Given the description of an element on the screen output the (x, y) to click on. 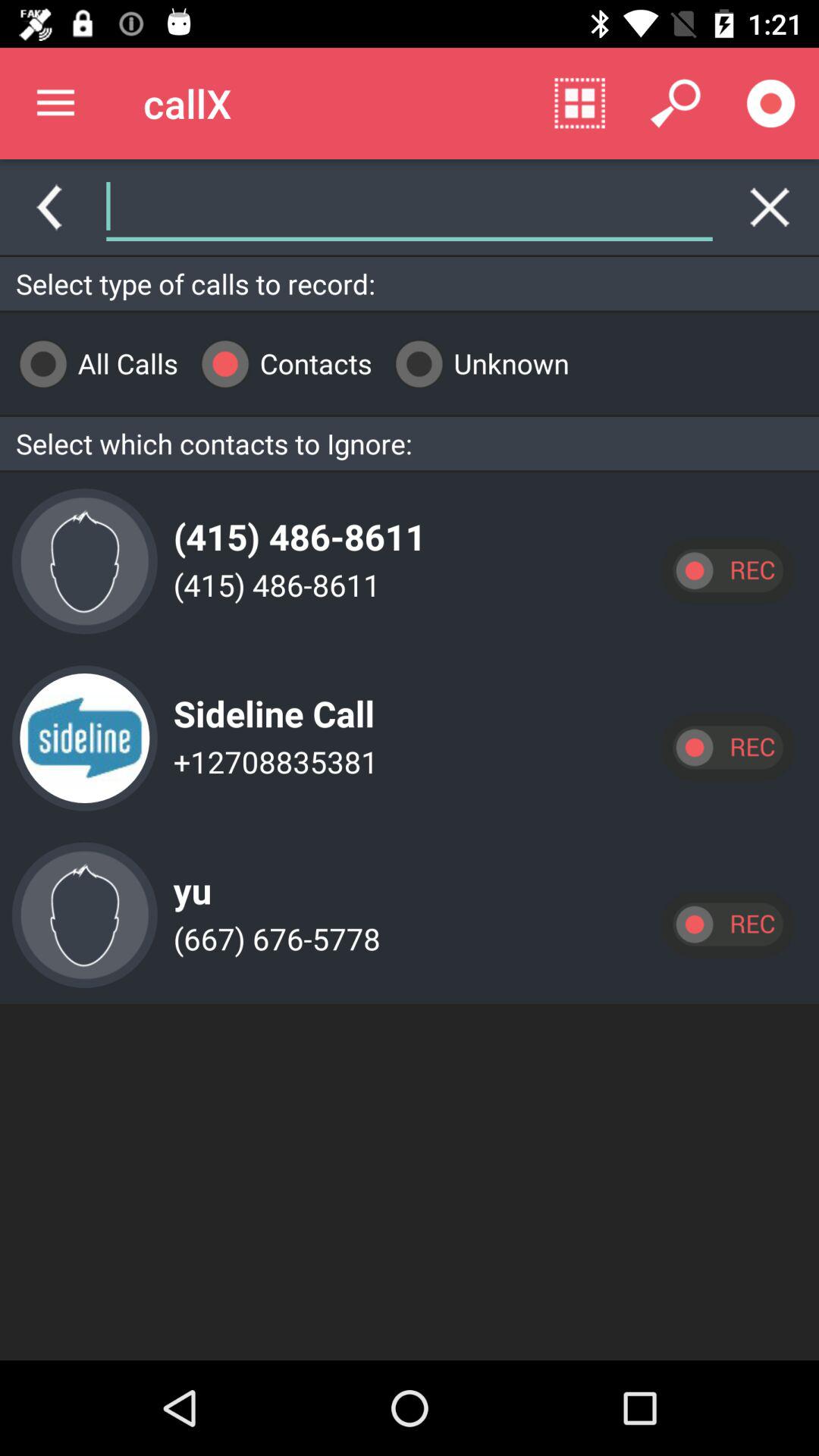
jump to unknown icon (476, 363)
